Given the description of an element on the screen output the (x, y) to click on. 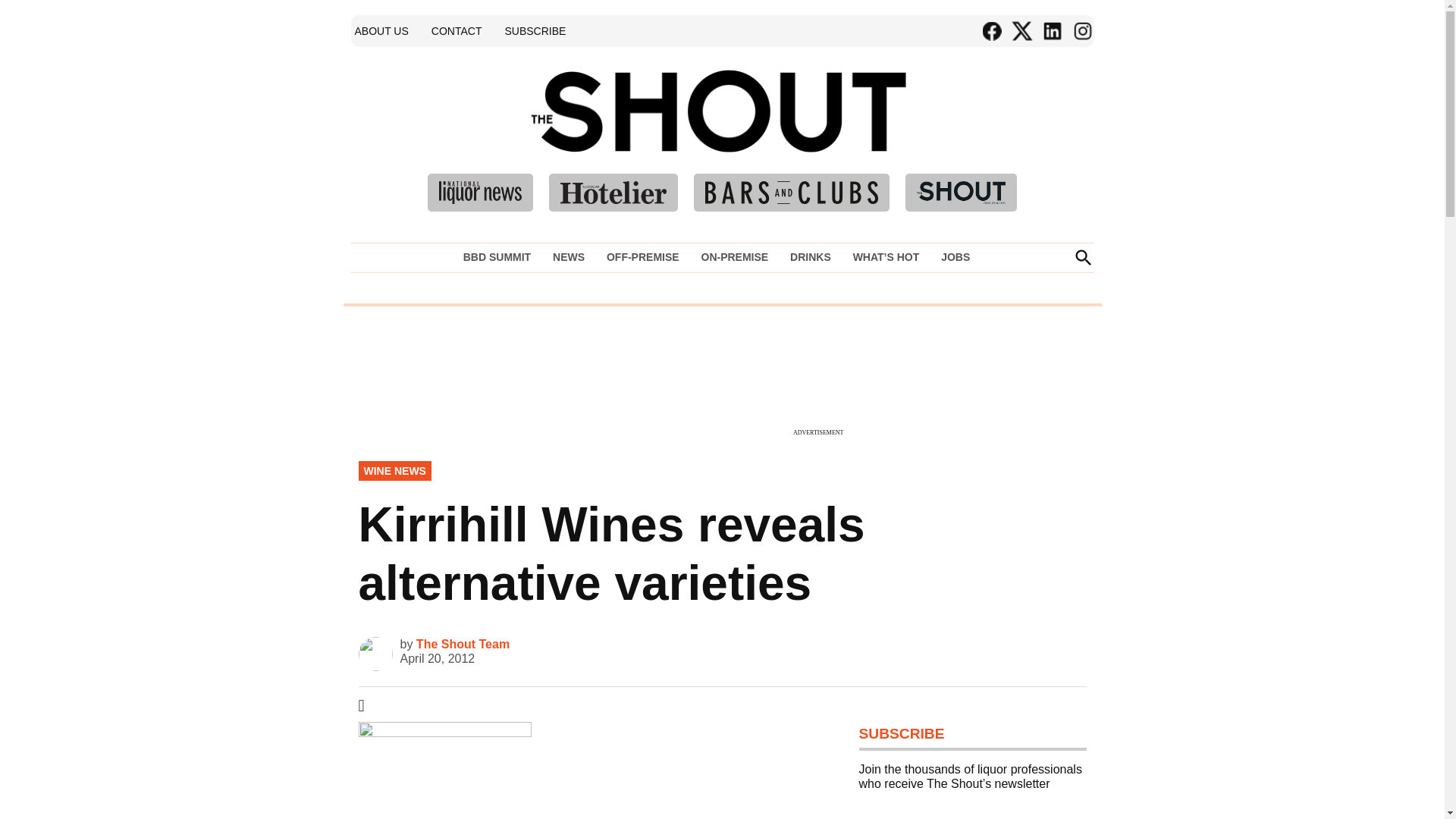
Facebook (991, 31)
BBD SUMMIT (500, 256)
The Shout (939, 133)
NEWS (568, 256)
OFF-PREMISE (642, 256)
Linkedin (1051, 31)
SUBSCRIBE (534, 30)
ON-PREMISE (734, 256)
ABOUT US (381, 30)
CONTACT (457, 30)
Twitter (1021, 31)
Instagram (1081, 31)
